Given the description of an element on the screen output the (x, y) to click on. 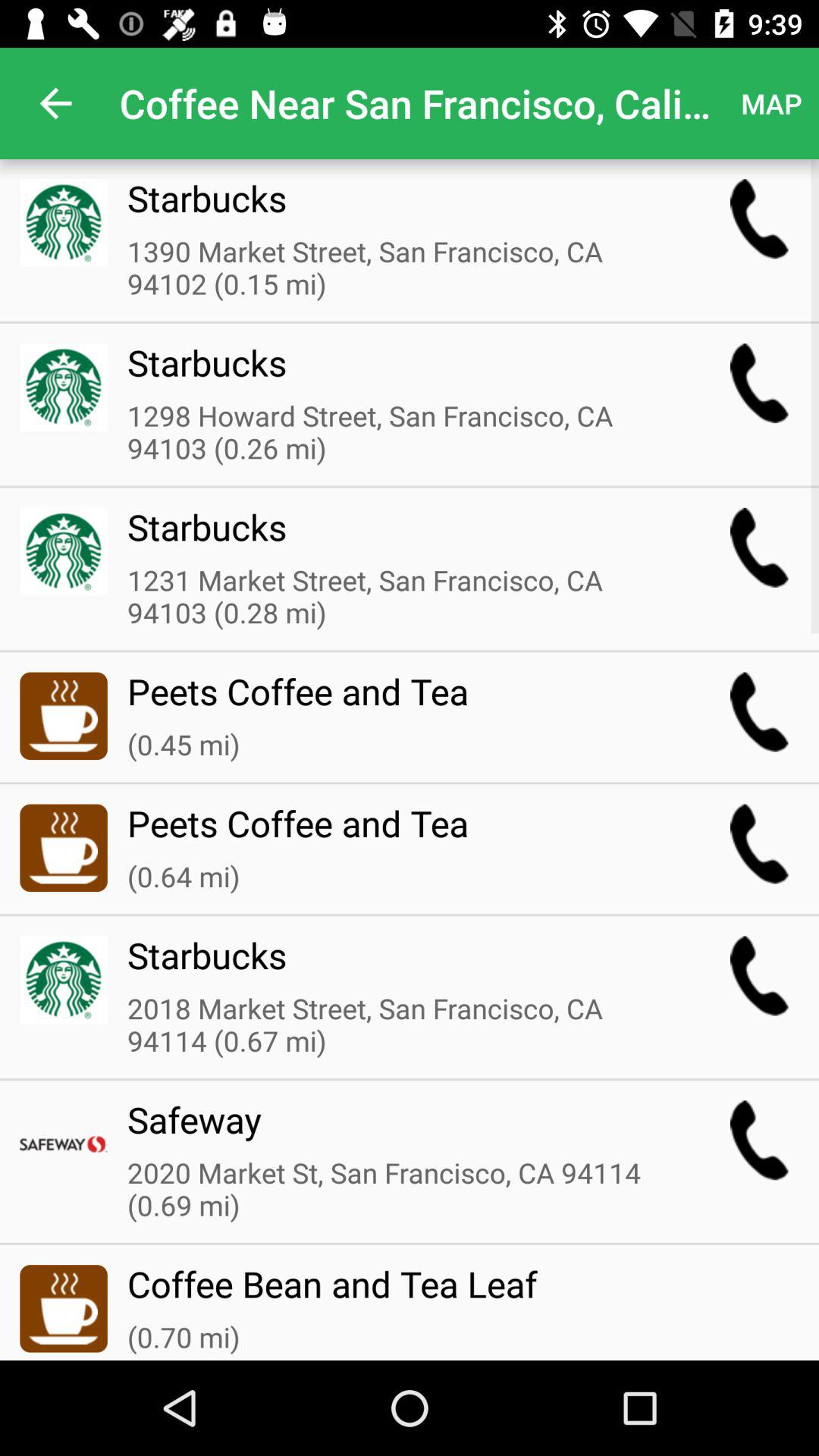
flip until 2020 market st (398, 1189)
